Given the description of an element on the screen output the (x, y) to click on. 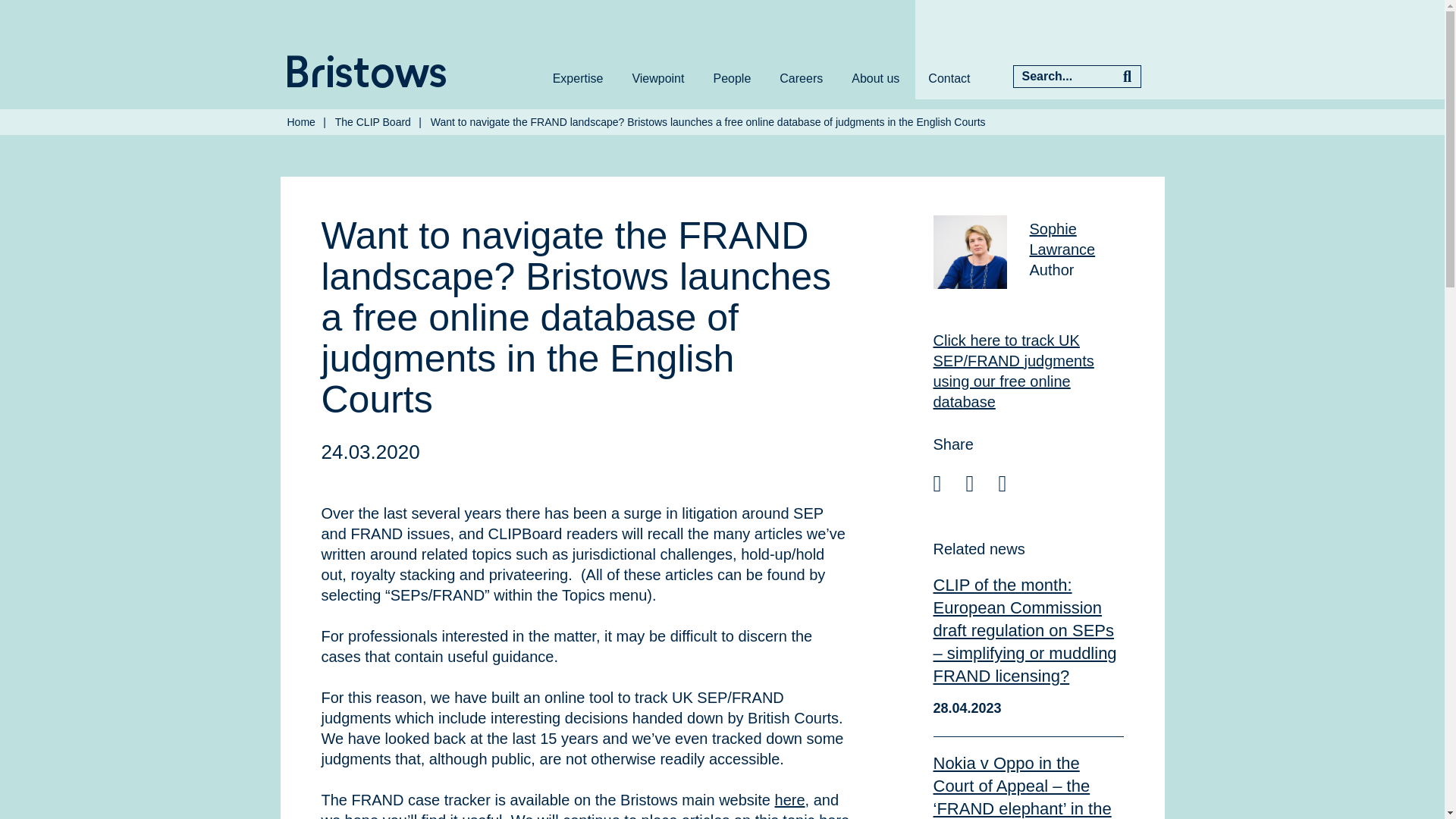
Search... (1063, 76)
Search (1127, 76)
Search (1127, 76)
